Given the description of an element on the screen output the (x, y) to click on. 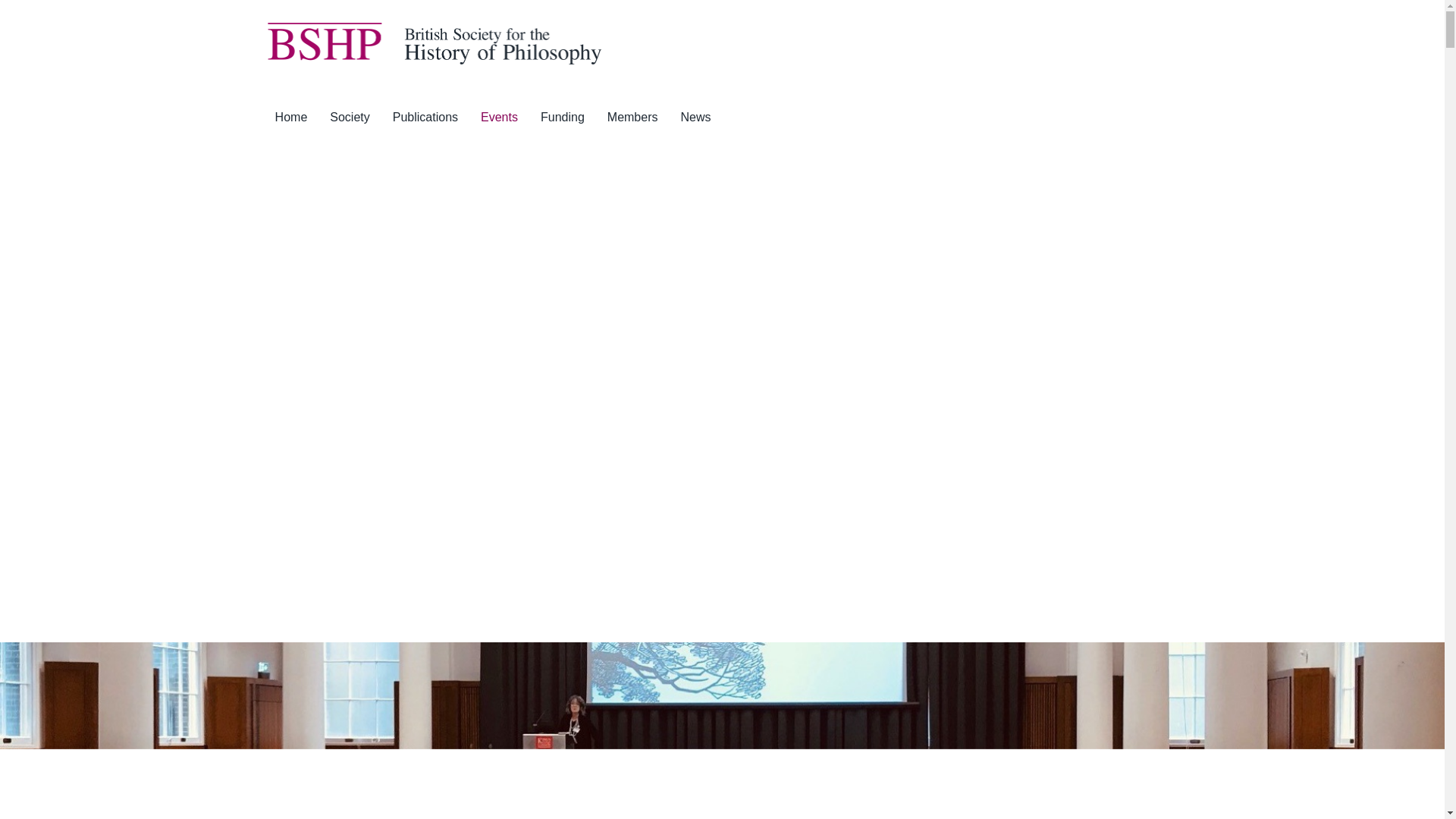
Publications (424, 117)
Events (498, 117)
Home (290, 117)
Funding (562, 117)
Society (349, 117)
Members (632, 117)
